Given the description of an element on the screen output the (x, y) to click on. 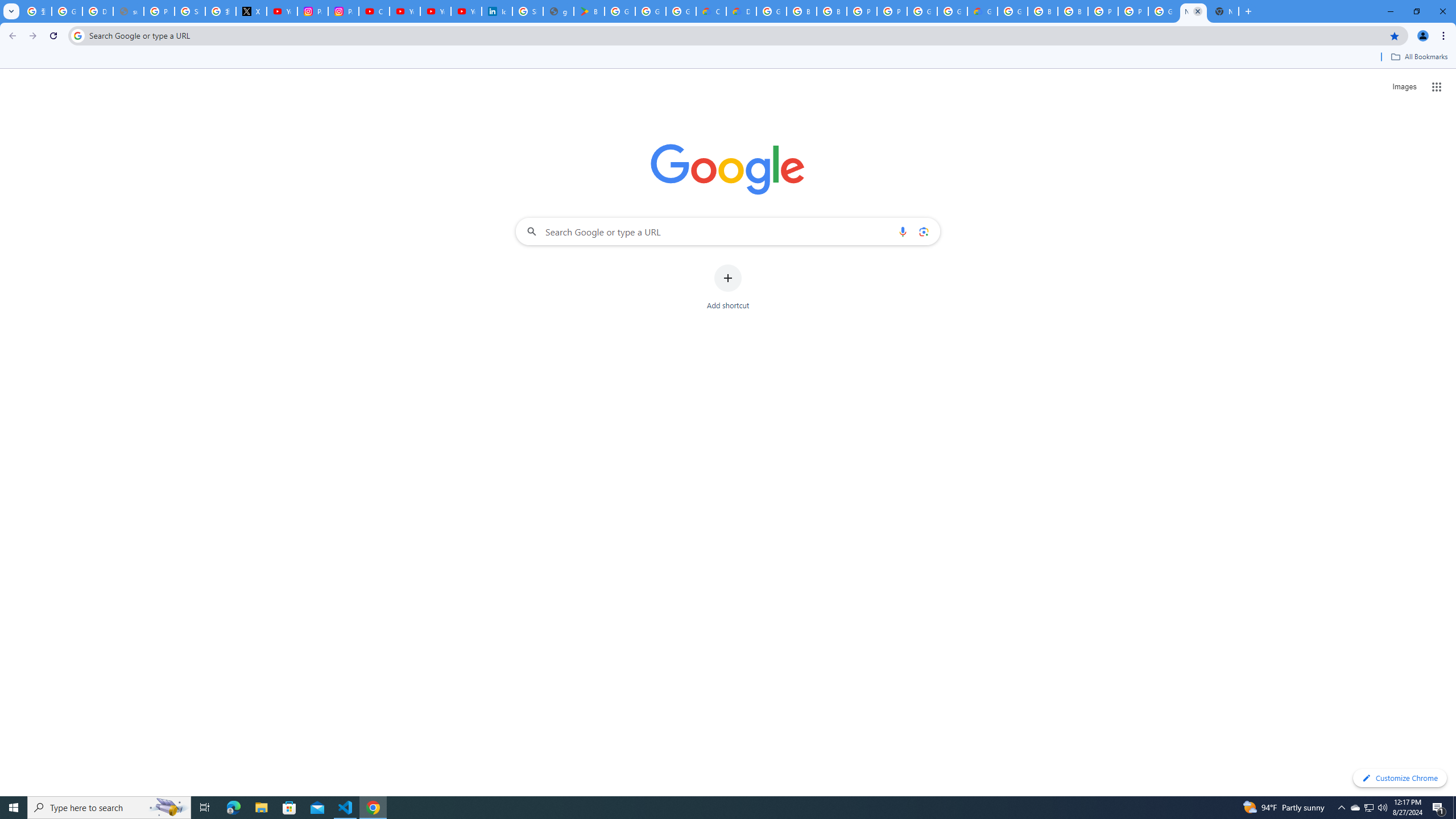
Search icon (77, 35)
New Tab (1223, 11)
Sign in - Google Accounts (189, 11)
YouTube Content Monetization Policies - How YouTube Works (282, 11)
Google Workspace - Specific Terms (681, 11)
Google Cloud Platform (1162, 11)
Google Cloud Estimate Summary (982, 11)
